Given the description of an element on the screen output the (x, y) to click on. 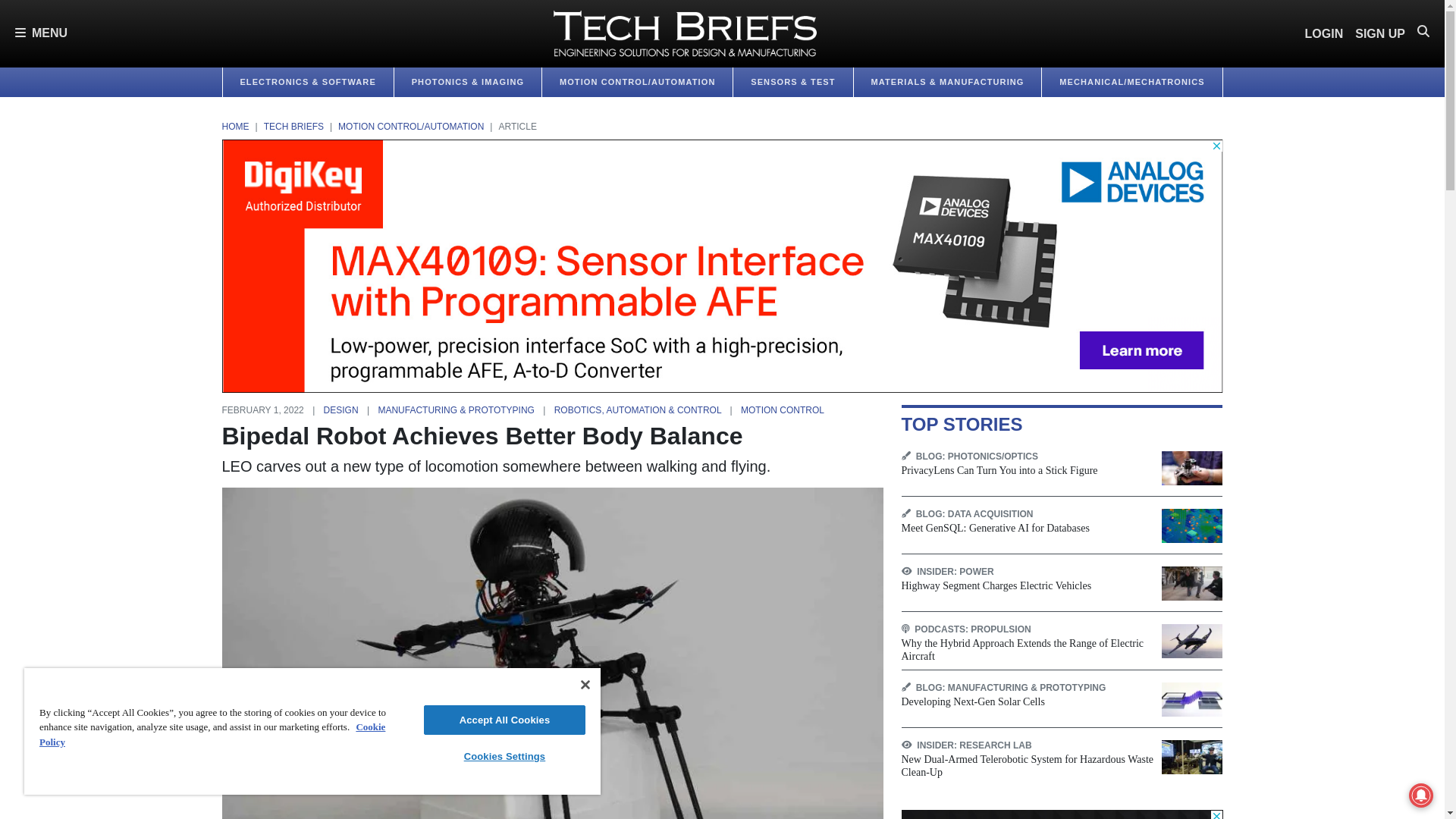
LOGIN (1323, 32)
3rd party ad content (1062, 814)
SIGN UP (1379, 32)
MENU (41, 33)
